Given the description of an element on the screen output the (x, y) to click on. 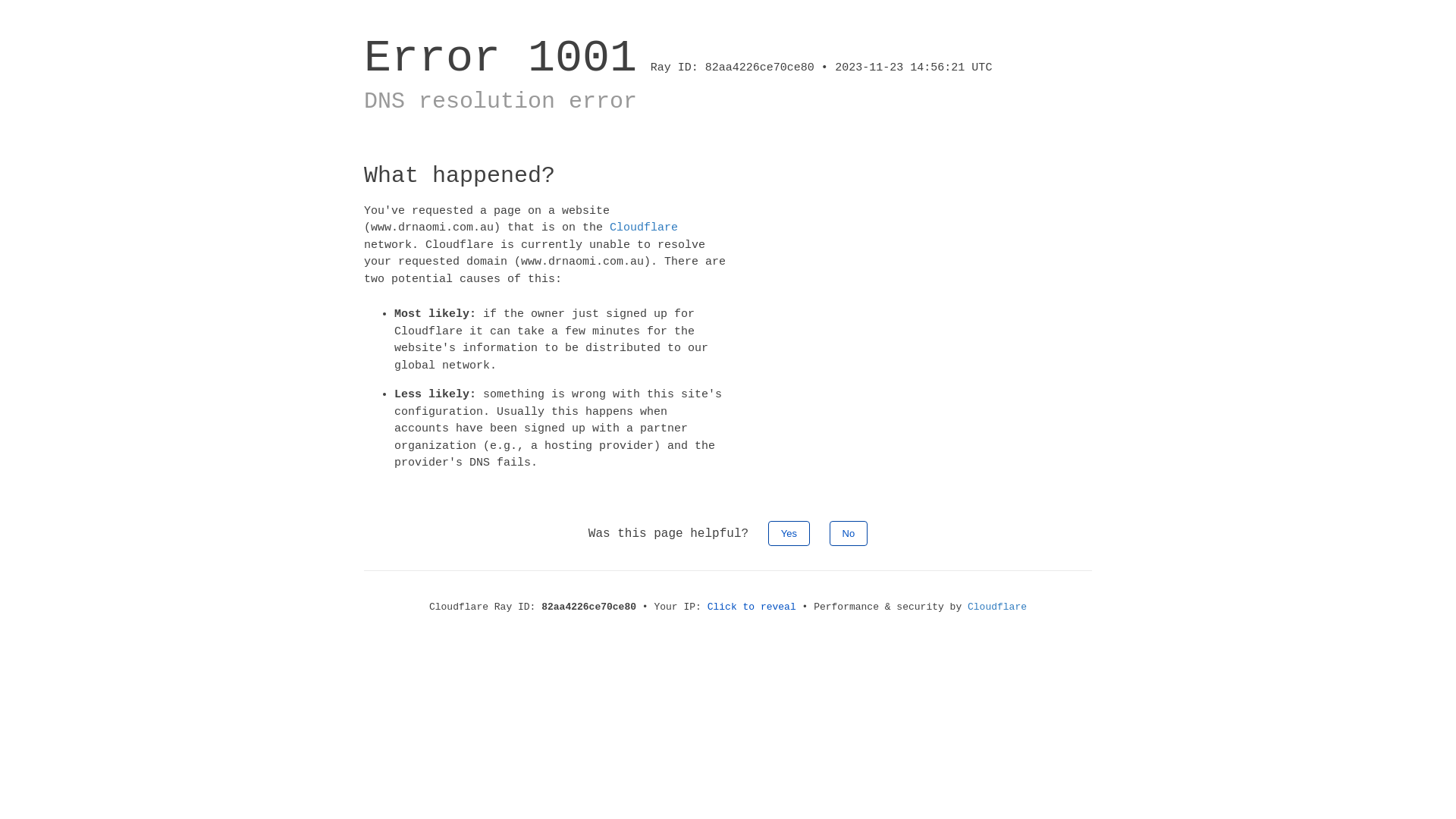
Cloudflare Element type: text (643, 227)
Cloudflare Element type: text (996, 605)
Yes Element type: text (788, 532)
No Element type: text (848, 532)
Click to reveal Element type: text (751, 605)
